Given the description of an element on the screen output the (x, y) to click on. 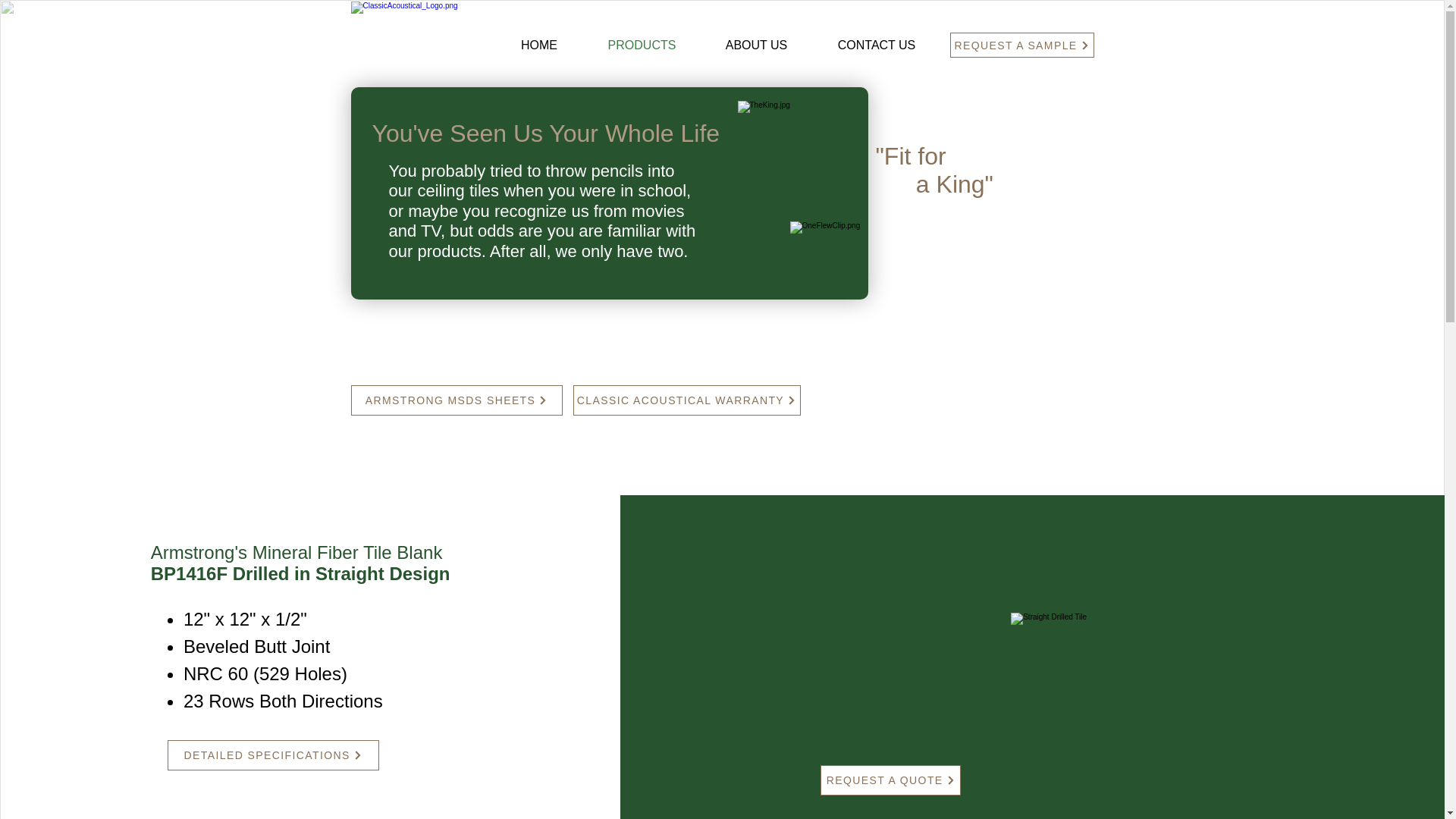
CLASSIC ACOUSTICAL WARRANTY (686, 399)
PRODUCTS (641, 45)
REQUEST A QUOTE (890, 779)
CONTACT US (876, 45)
HOME (539, 45)
ARMSTRONG MSDS SHEETS (456, 399)
DETAILED SPECIFICATIONS (272, 755)
REQUEST A SAMPLE (1021, 44)
ABOUT US (756, 45)
